Given the description of an element on the screen output the (x, y) to click on. 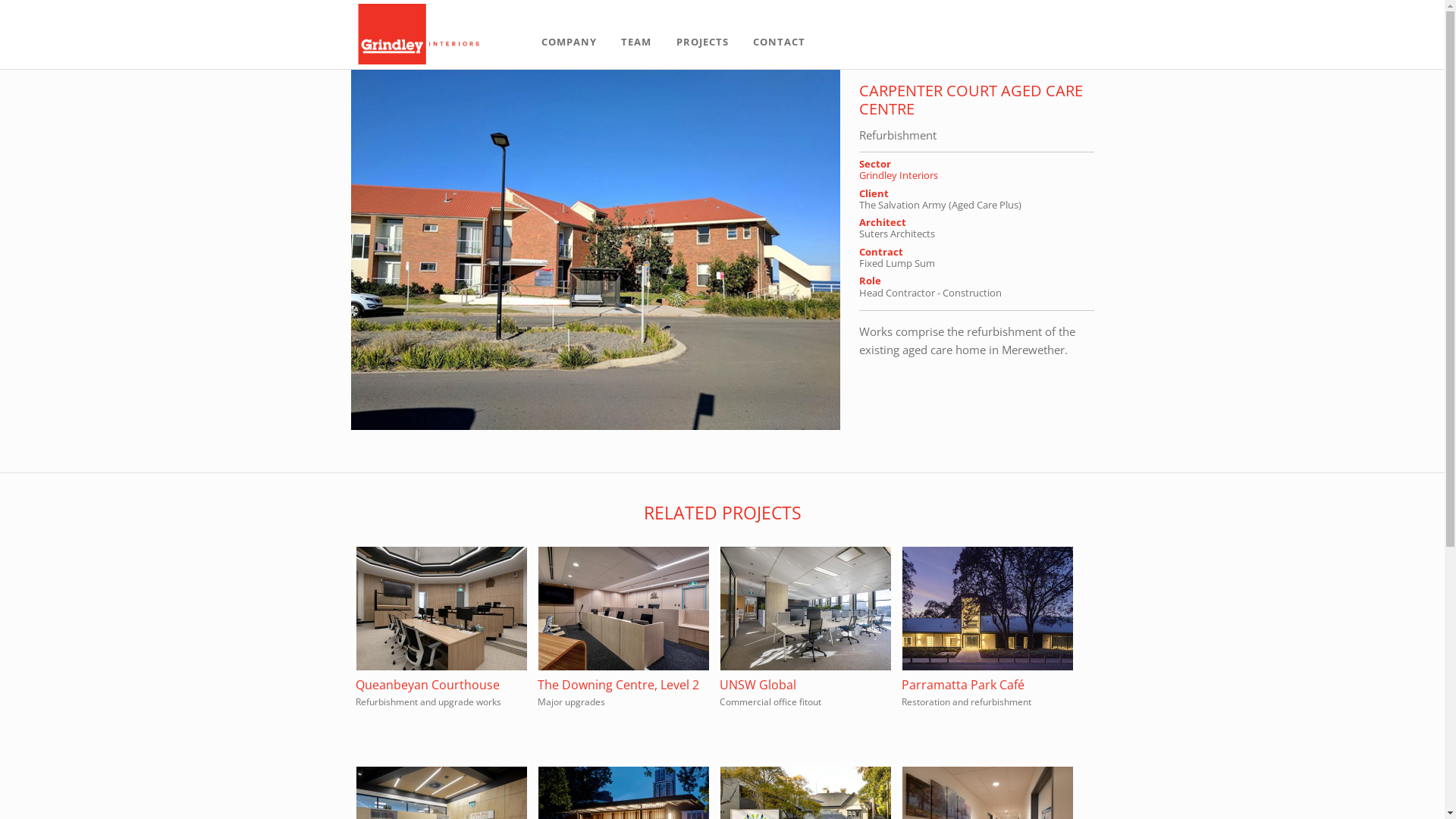
Grindley Interiors Element type: text (897, 175)
Skip to main content Element type: text (53, 70)
COMPANY Element type: text (568, 41)
TEAM Element type: text (636, 41)
UNSW Global Element type: text (756, 684)
The Downing Centre, Level 2 Element type: text (617, 684)
Grindley Interiors Element type: hover (417, 33)
PROJECTS Element type: text (702, 41)
CONTACT Element type: text (779, 41)
Queanbeyan Courthouse Element type: text (426, 684)
Carpenter Court Aged Care Centre Element type: hover (594, 425)
